Given the description of an element on the screen output the (x, y) to click on. 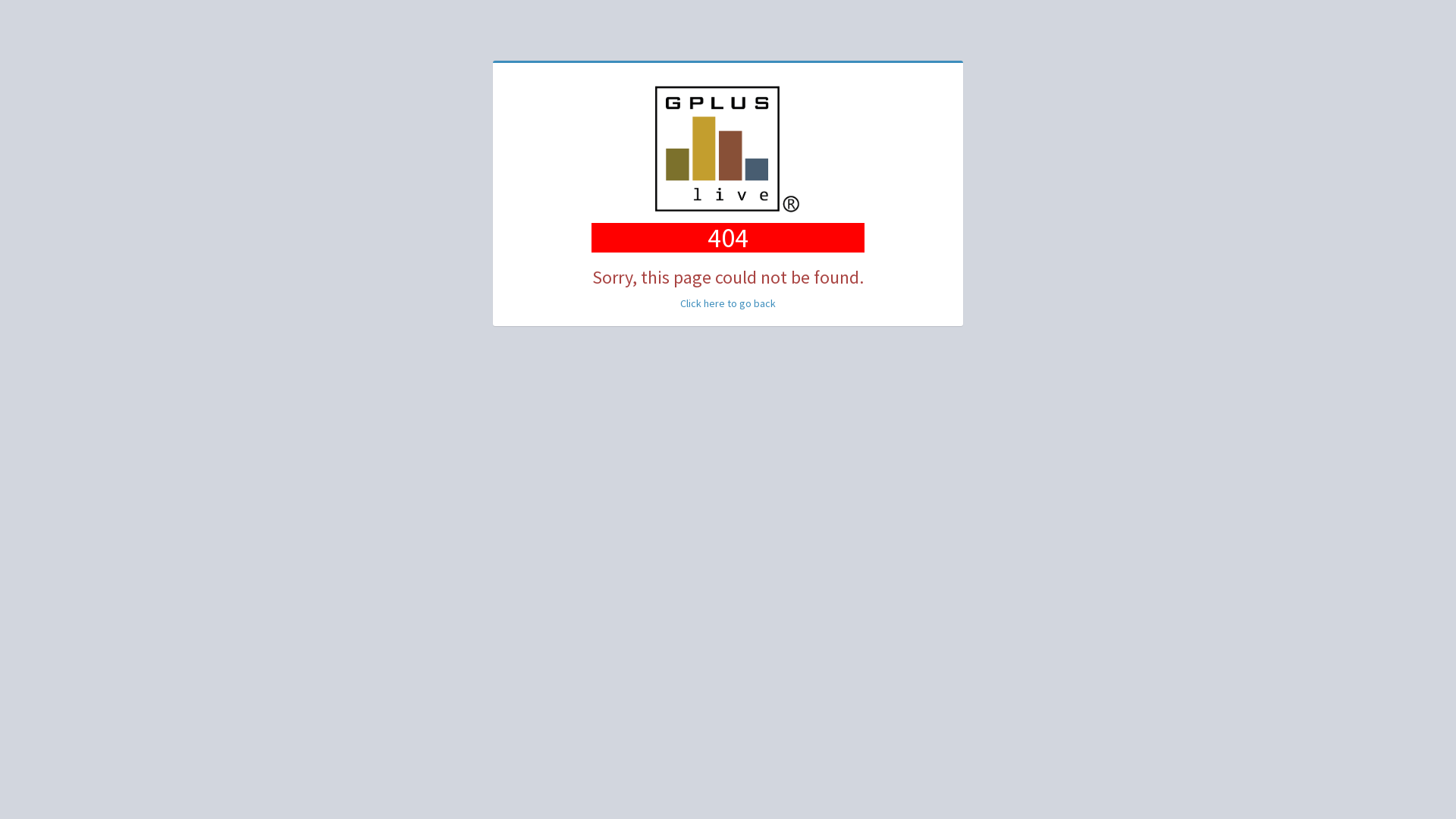
Click here to go back Element type: text (727, 303)
